Given the description of an element on the screen output the (x, y) to click on. 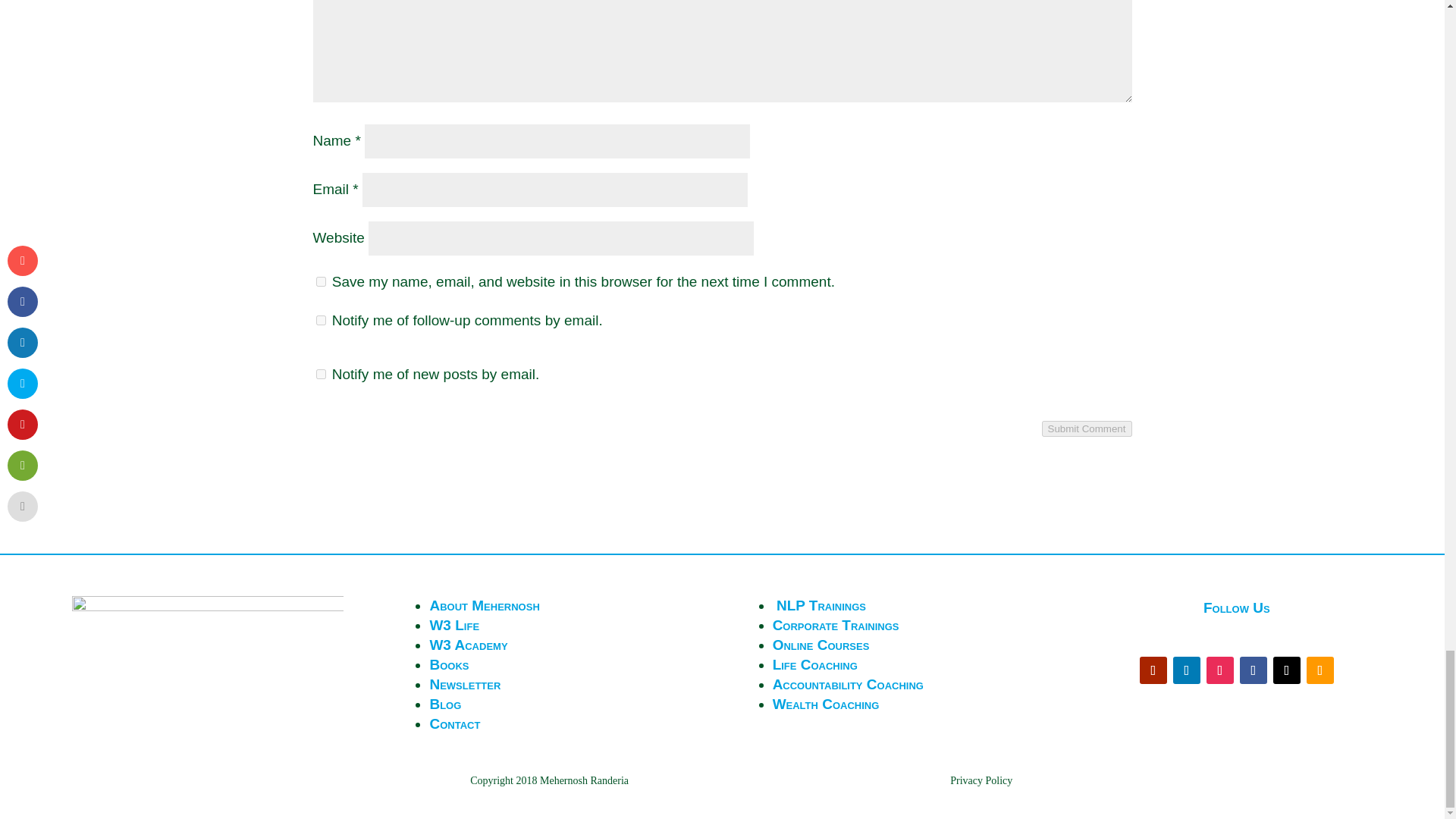
subscribe (319, 320)
About Mehernosh (483, 605)
yes (319, 281)
About Mehernosh (483, 605)
Contact (454, 723)
W3 Life (454, 625)
Submit Comment (1087, 428)
About W3 Life (454, 625)
About W3 Academy (467, 644)
Books (448, 664)
NLP Trainings (821, 605)
Blog (445, 703)
Newsletter (464, 684)
subscribe (319, 374)
W3 logo (207, 641)
